Given the description of an element on the screen output the (x, y) to click on. 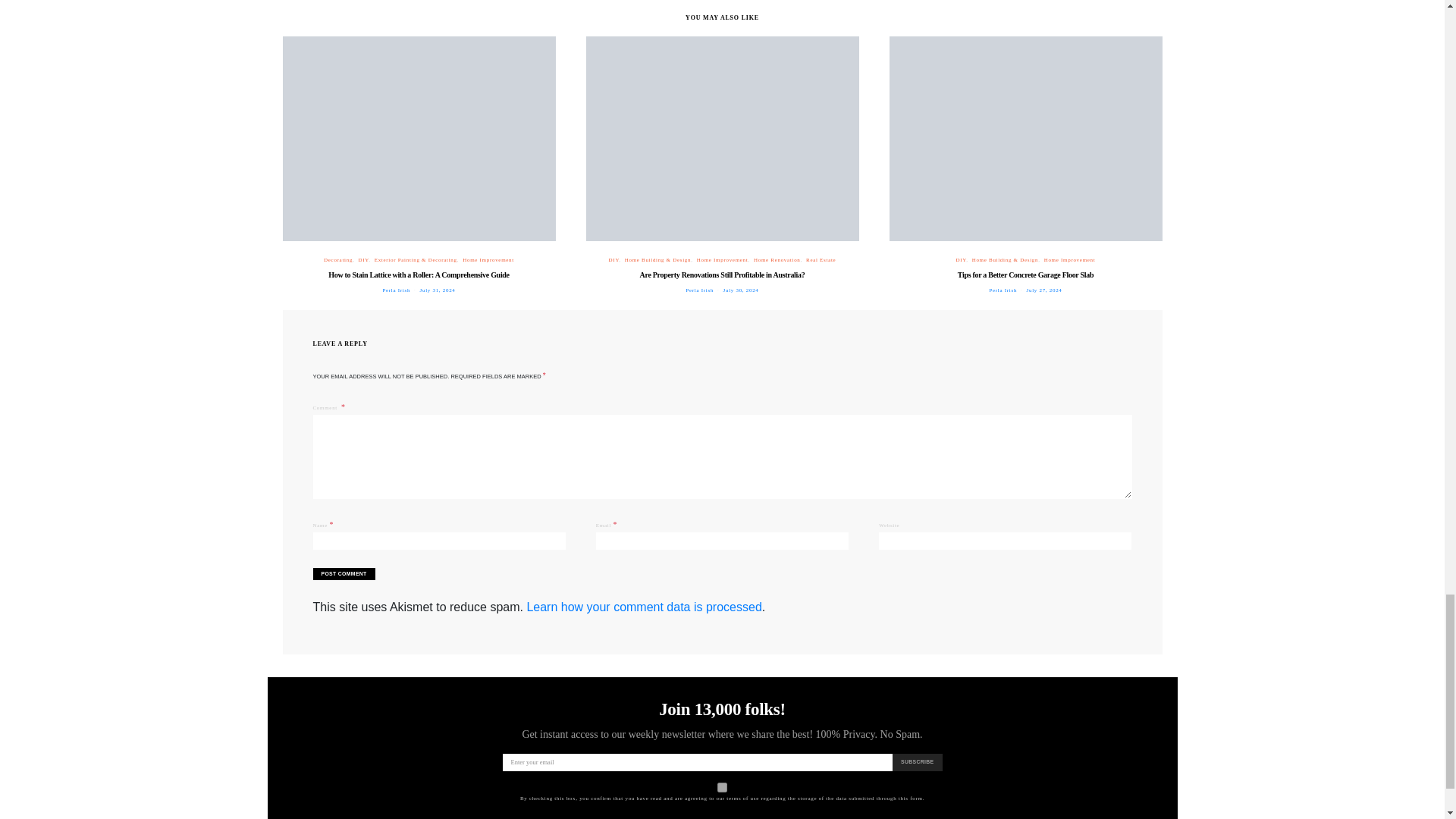
View all posts by Perla Irish (1002, 290)
View all posts by Perla Irish (699, 290)
View all posts by Perla Irish (395, 290)
on (722, 787)
Post Comment (343, 573)
